Given the description of an element on the screen output the (x, y) to click on. 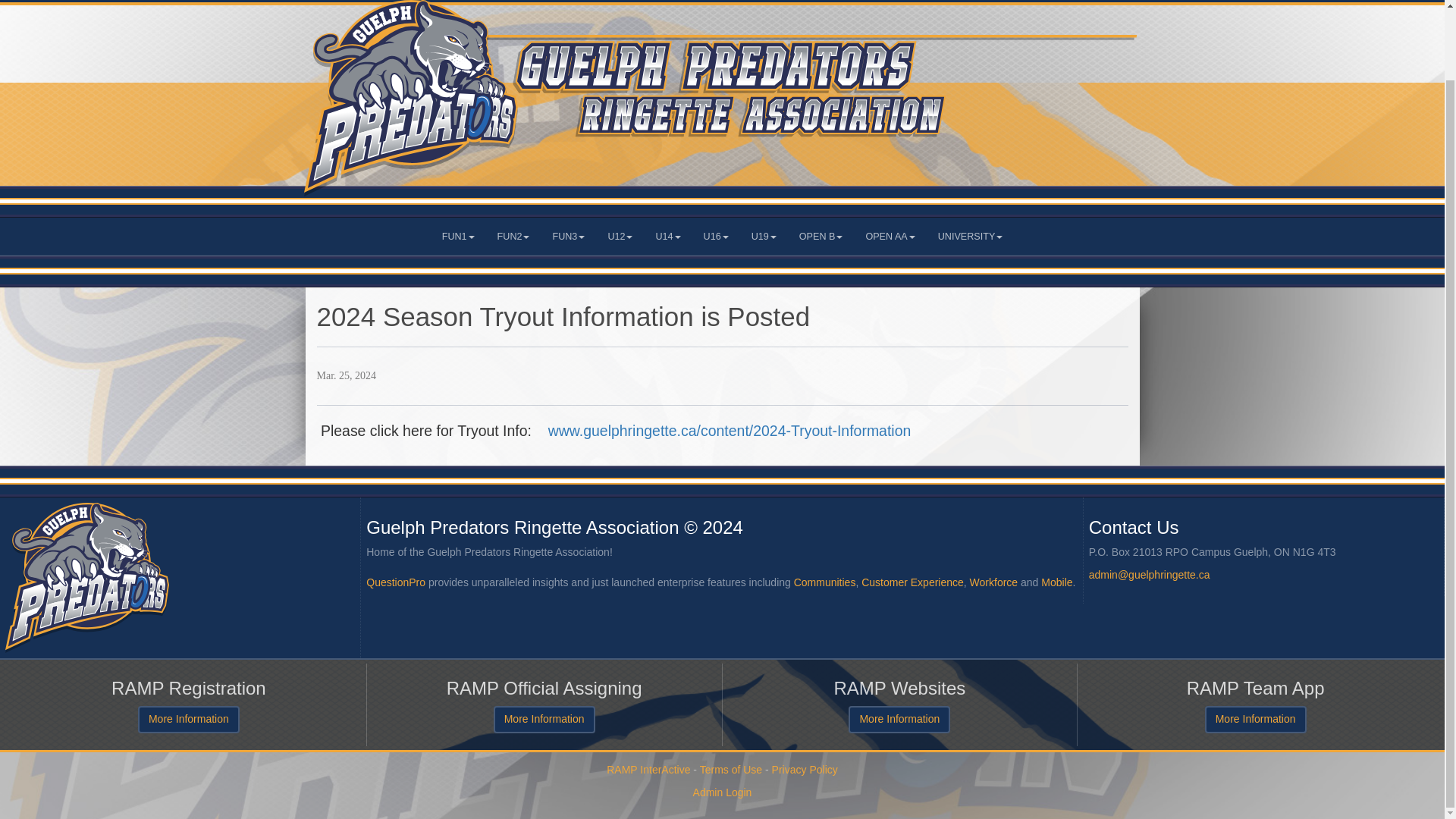
PROGRAMS (743, 1)
HOME (270, 1)
ABOUT US (654, 1)
REGISTRATION (347, 1)
